Given the description of an element on the screen output the (x, y) to click on. 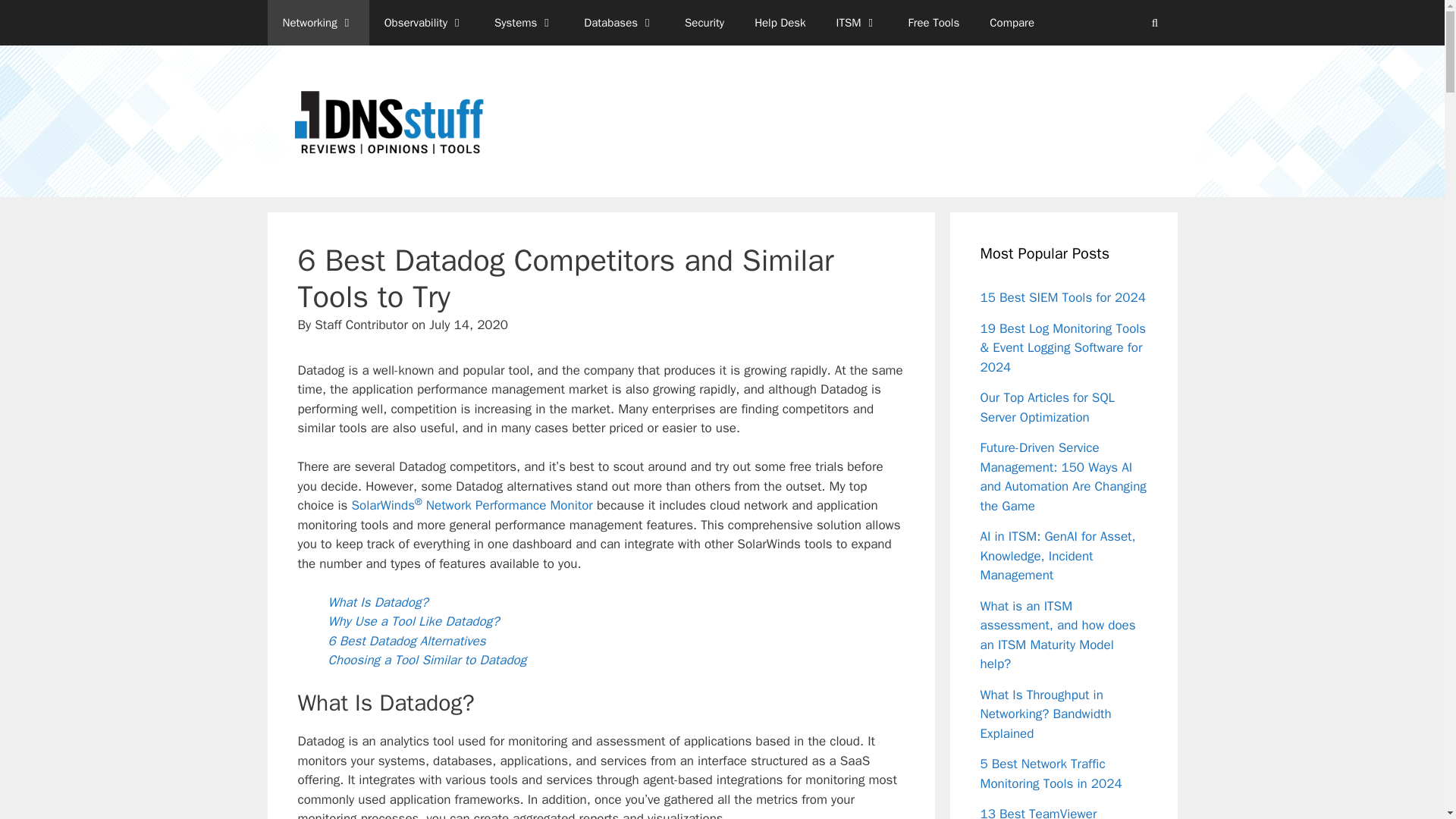
Compare (1011, 22)
Databases (619, 22)
Help Desk (780, 22)
Networking (317, 22)
Free Tools (934, 22)
Systems (524, 22)
Security (704, 22)
ITSM (857, 22)
Observability (424, 22)
